Given the description of an element on the screen output the (x, y) to click on. 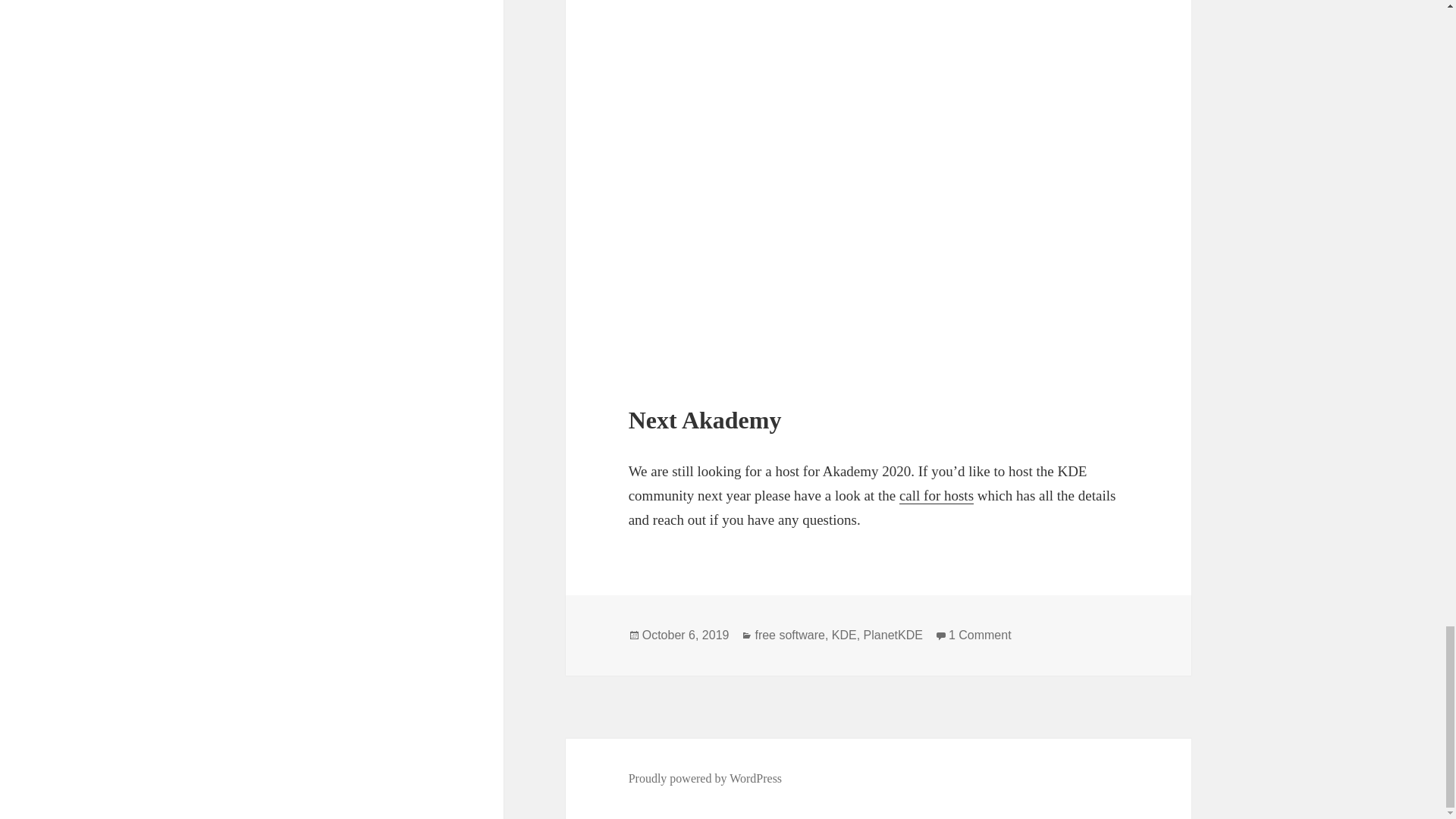
call for hosts (936, 495)
KDE (844, 635)
PlanetKDE (893, 635)
free software (789, 635)
October 6, 2019 (685, 635)
Proudly powered by WordPress (704, 778)
